Given the description of an element on the screen output the (x, y) to click on. 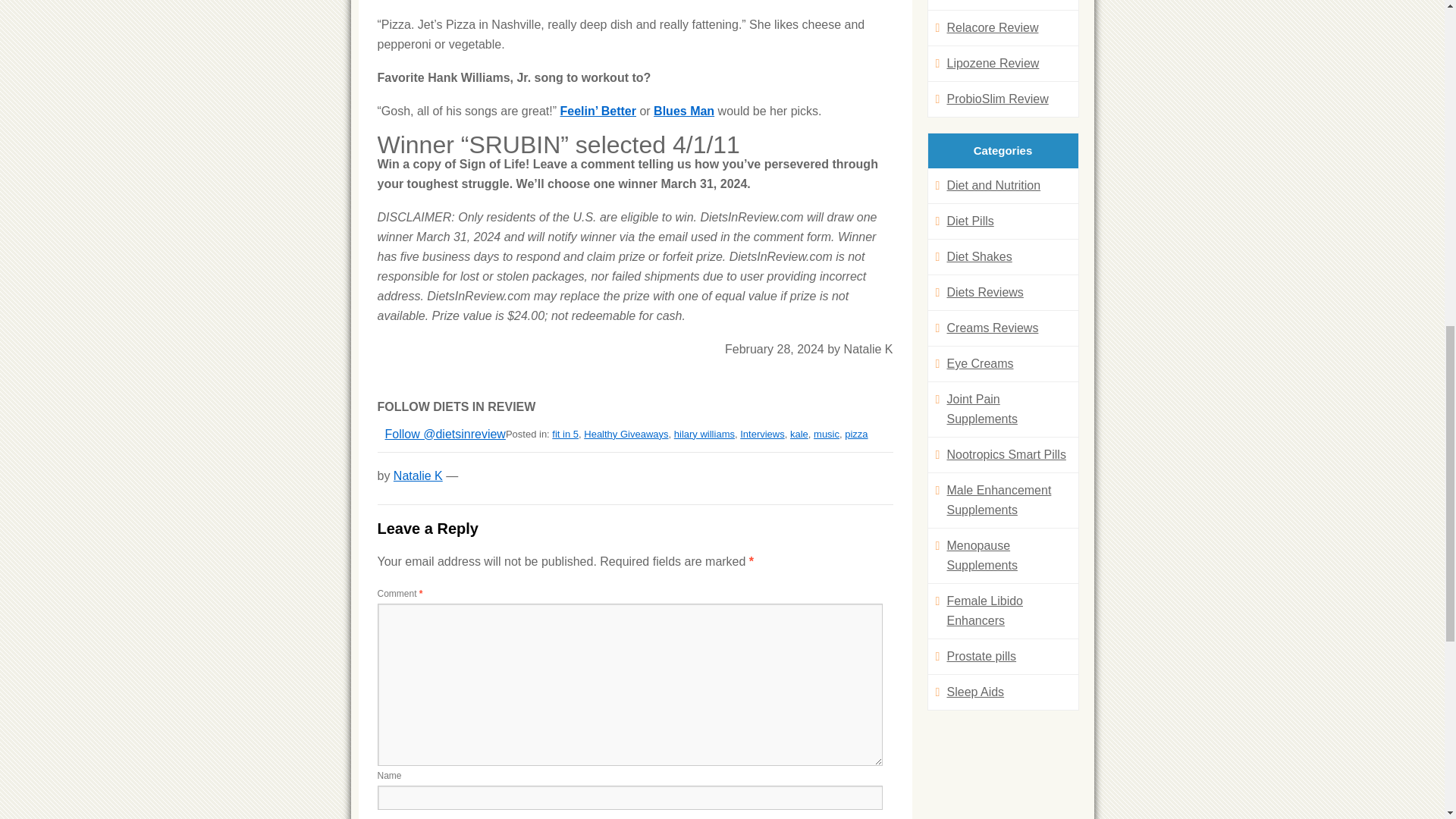
itunes (683, 110)
itunes (596, 110)
